Given the description of an element on the screen output the (x, y) to click on. 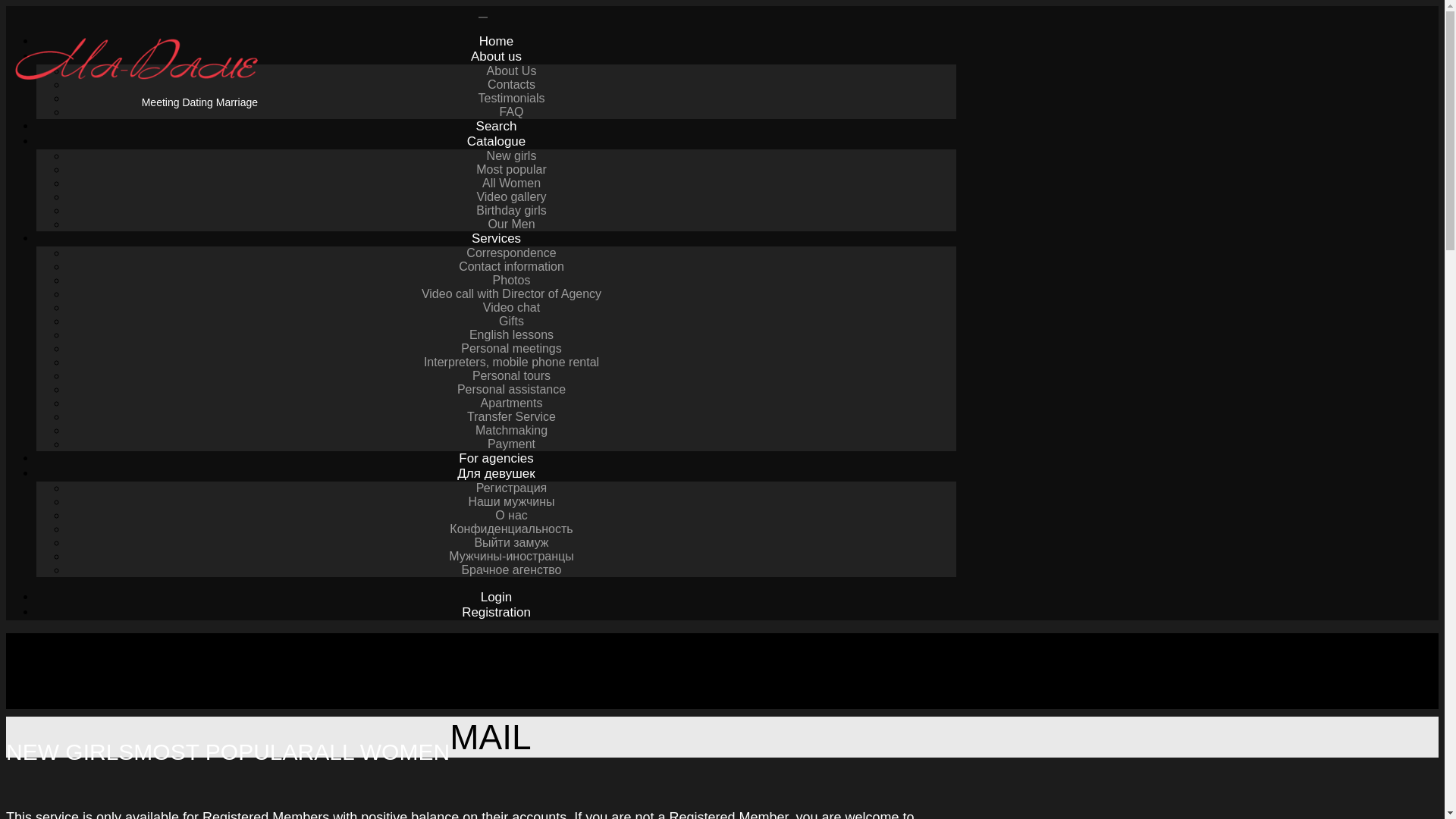
FAQ (510, 111)
Video call with Director of Agency (510, 293)
New girls (511, 155)
Contact information (511, 266)
Birthday girls (510, 210)
Transfer Service (510, 416)
Personal assistance (511, 389)
Payment (510, 443)
Meeting Dating Marriage (135, 88)
All Women (511, 182)
Video gallery (510, 196)
Video chat (510, 307)
Matchmaking (511, 430)
Correspondence (510, 252)
For agencies (495, 458)
